Given the description of an element on the screen output the (x, y) to click on. 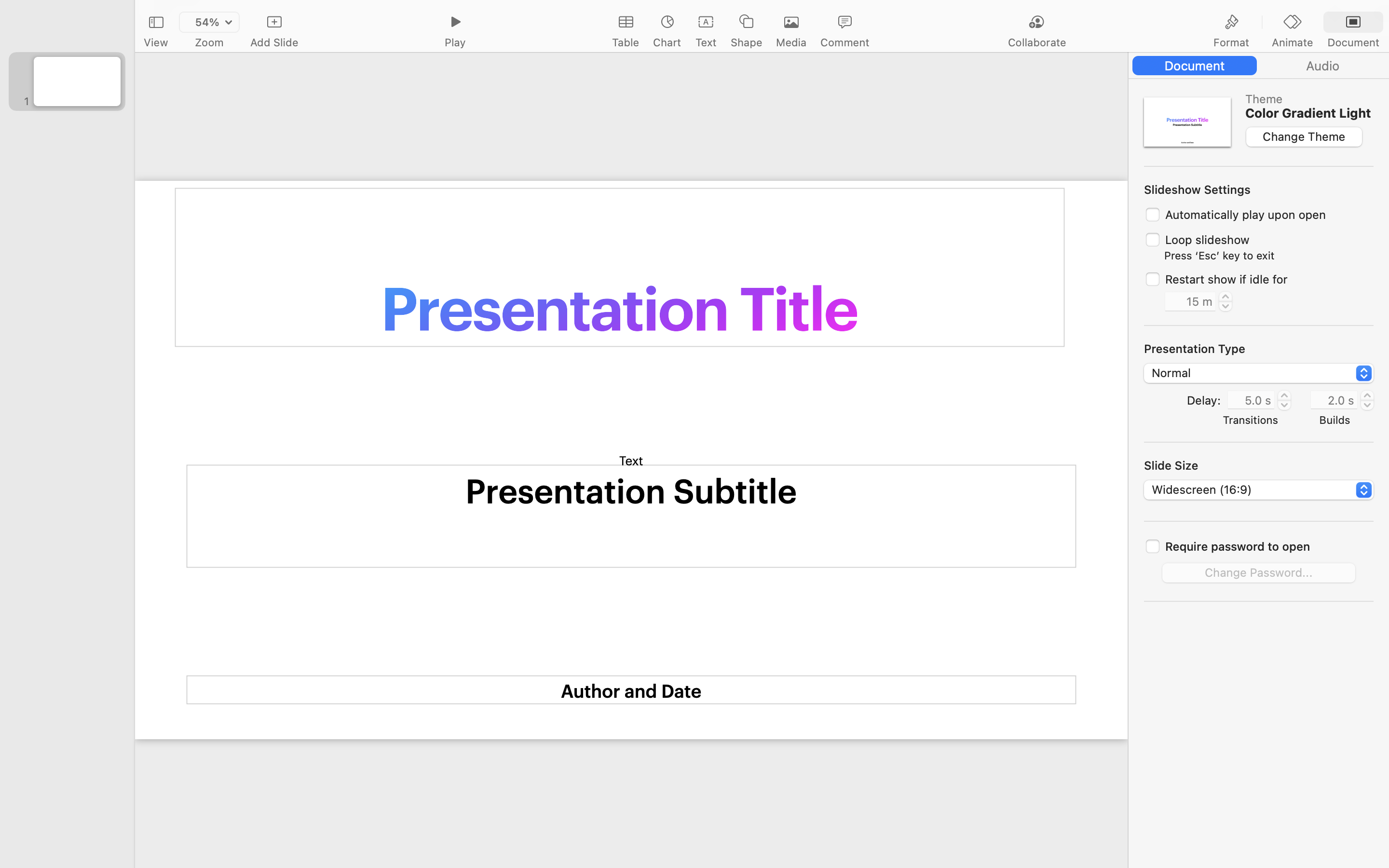
Untitled Element type: AXStaticText (735, 12)
Format Element type: AXStaticText (1230, 42)
Builds Element type: AXStaticText (1334, 419)
Zoom Element type: AXStaticText (208, 42)
